Given the description of an element on the screen output the (x, y) to click on. 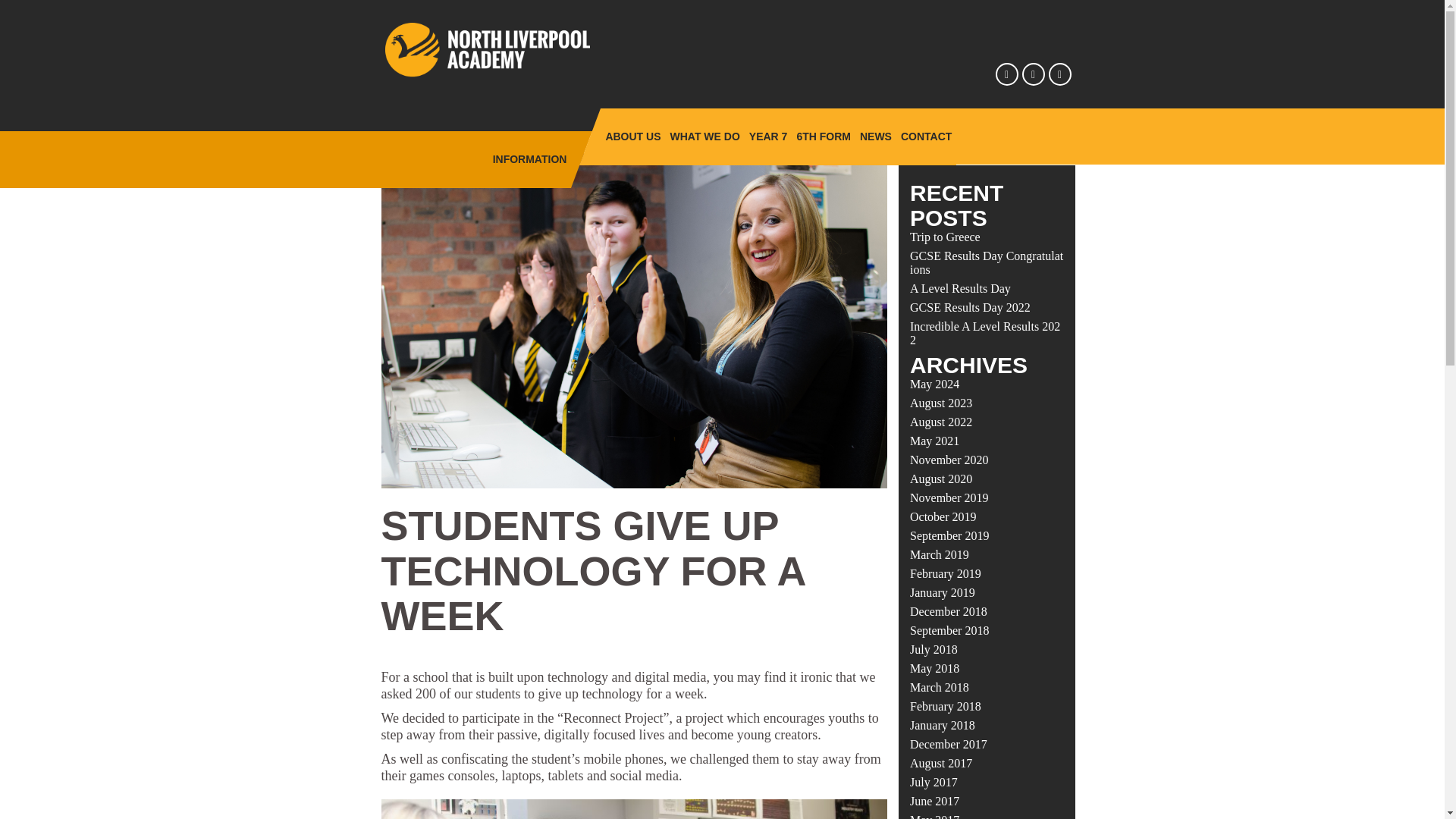
ABOUT US (632, 136)
INFORMATION (529, 159)
WHAT WE DO (704, 136)
